Given the description of an element on the screen output the (x, y) to click on. 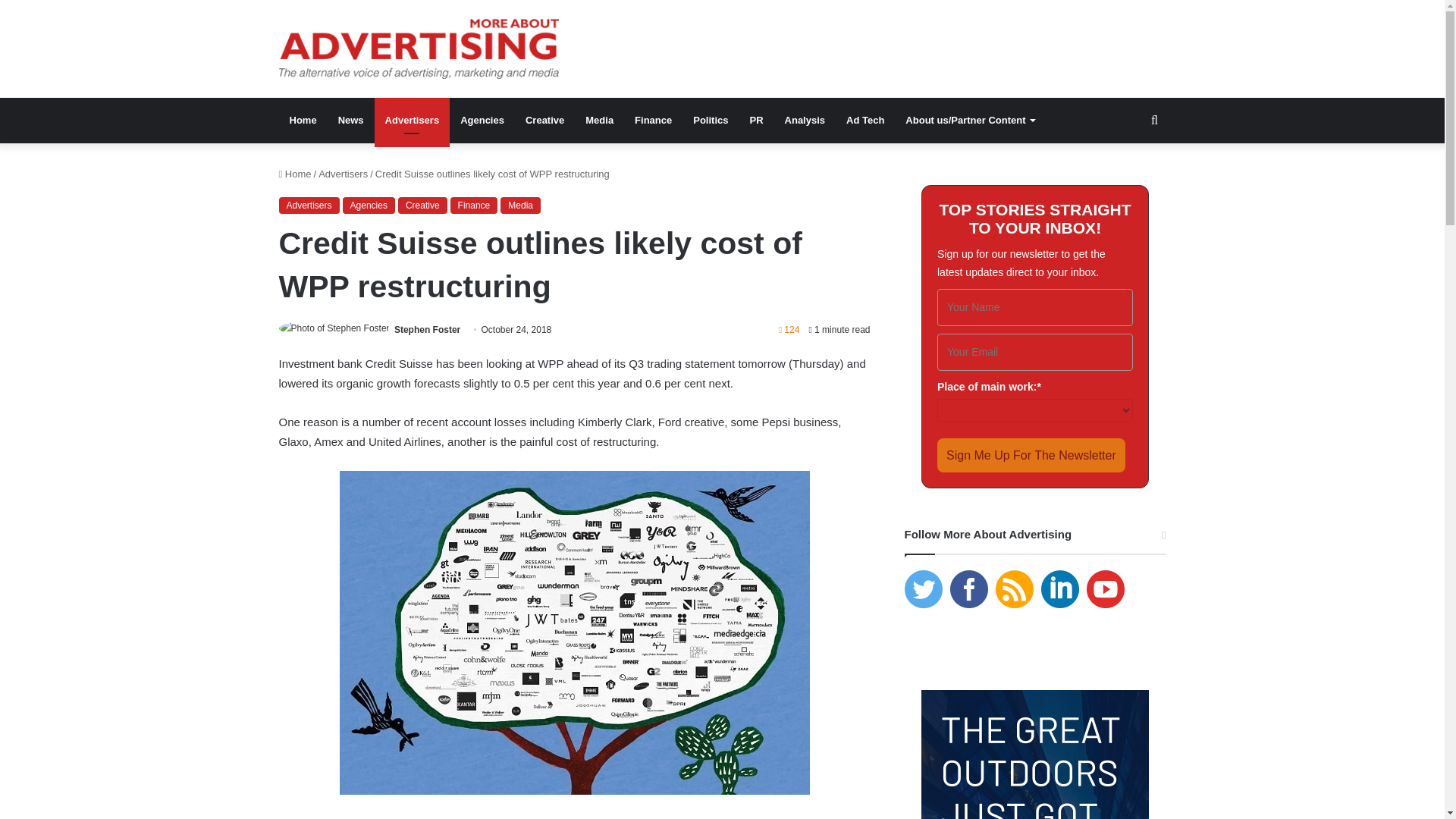
More About Advertising (419, 48)
Advertisers (309, 205)
Media (520, 205)
Media (599, 120)
Agencies (368, 205)
Advertisers (343, 173)
Advertisers (411, 120)
Stephen Foster (427, 329)
Creative (545, 120)
Creative (421, 205)
Finance (473, 205)
News (350, 120)
Ad Tech (865, 120)
Finance (653, 120)
Stephen Foster (427, 329)
